Given the description of an element on the screen output the (x, y) to click on. 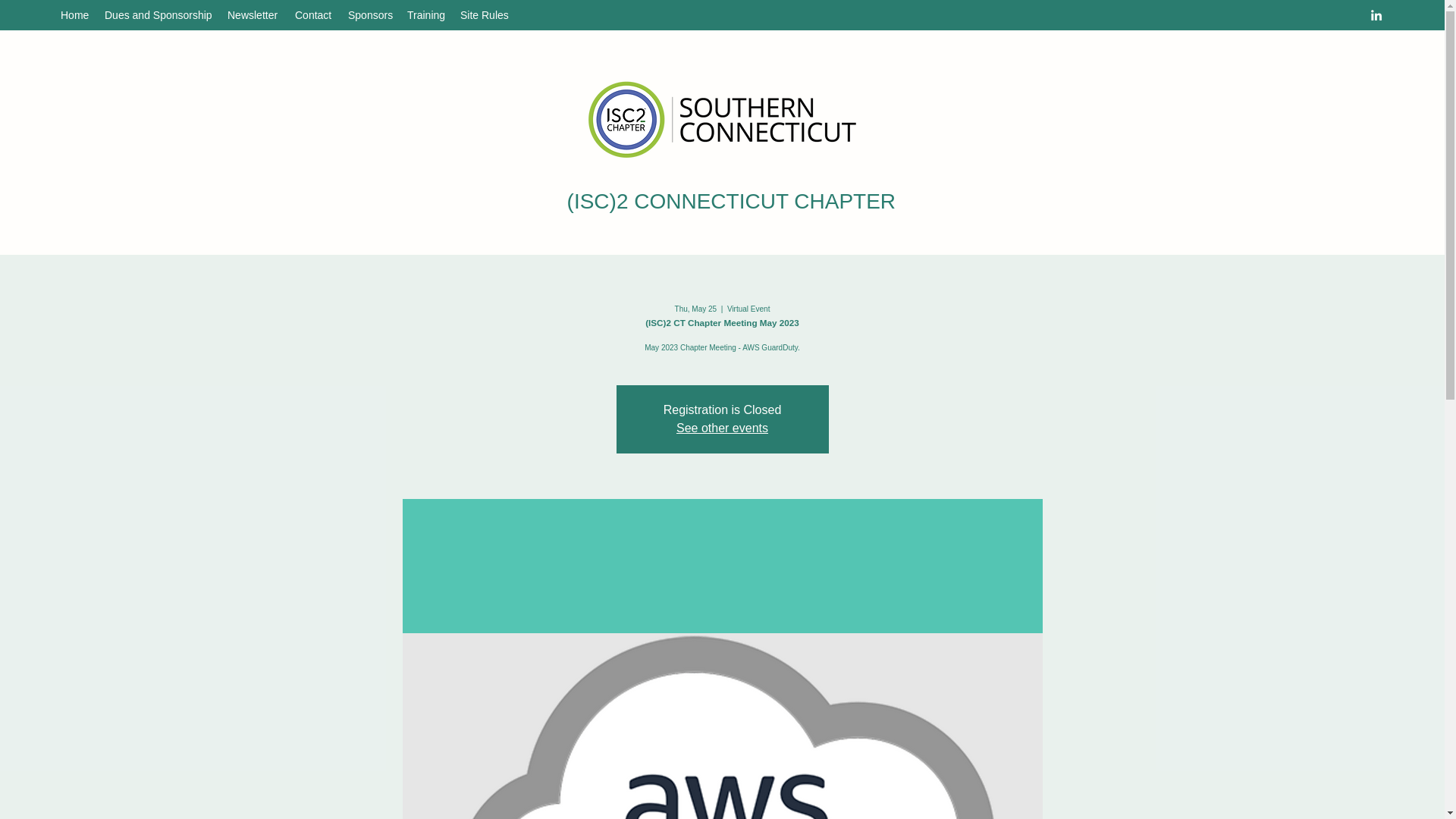
See other events (722, 427)
Dues and Sponsorship (158, 15)
Home (74, 15)
Newsletter (252, 15)
Sponsors (369, 15)
Training (425, 15)
Site Rules (482, 15)
Contact (313, 15)
